Given the description of an element on the screen output the (x, y) to click on. 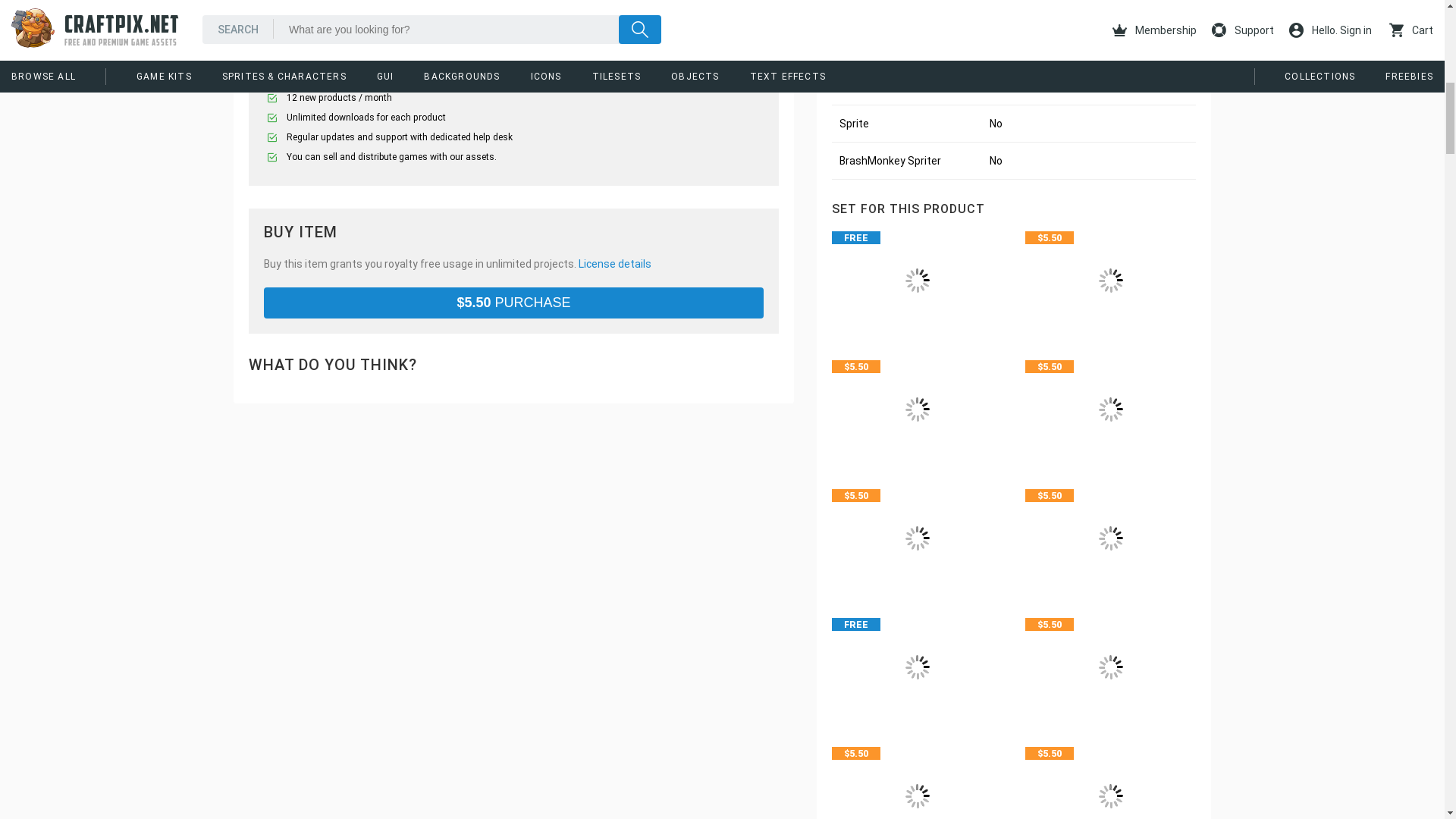
Barbarian Skills Pixel Art Icon Pack (1110, 666)
Materials for Crafting Pixel Art Icons (1110, 280)
Free RPG Loot Icons Pixel Art (917, 280)
License details (614, 263)
Magic Gems Pixel Art Icons (917, 538)
Thief Skills Pixel Art Icon Pack (1110, 779)
Alchemy Items Pixel Art Icons (1110, 538)
RPG Gems Icon Pack Pixel Art (917, 409)
UNLOCK DOWNLOAD (513, 40)
Free Swordsman Skills Pixel Art Icons (917, 666)
